Given the description of an element on the screen output the (x, y) to click on. 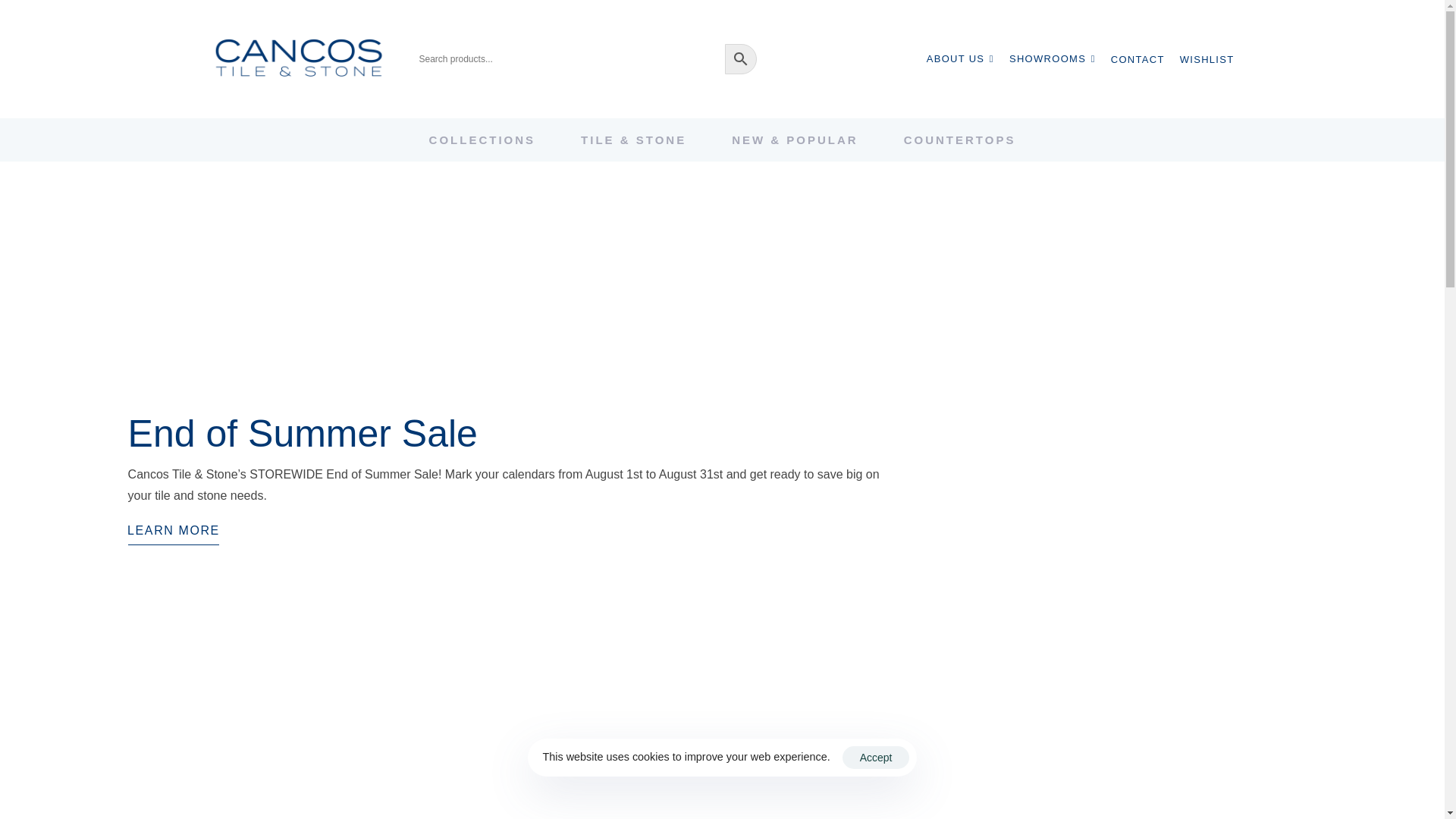
WISHLIST (1206, 59)
COLLECTIONS (482, 139)
CONTACT (1137, 59)
